Given the description of an element on the screen output the (x, y) to click on. 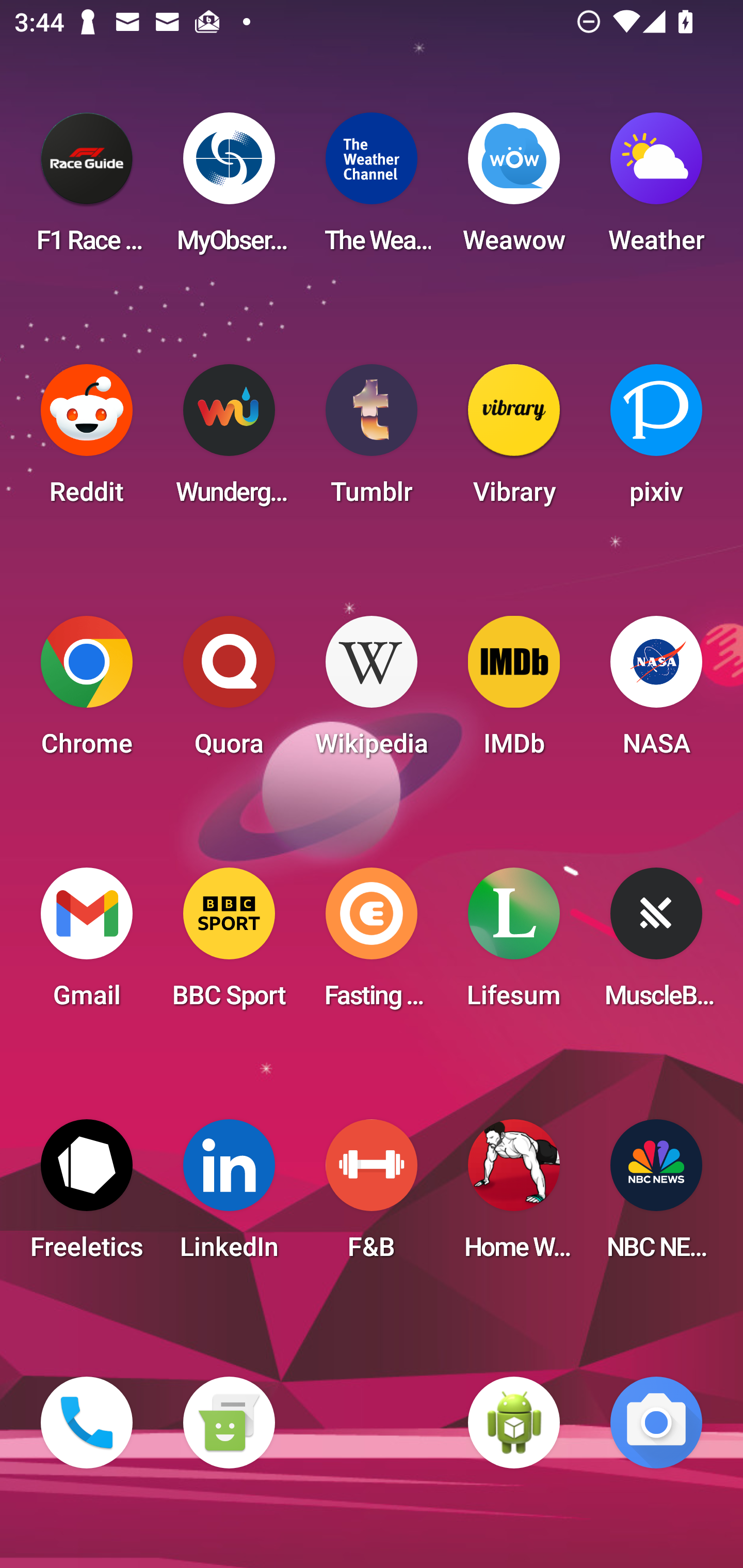
F1 Race Guide (86, 188)
MyObservatory (228, 188)
The Weather Channel (371, 188)
Weawow (513, 188)
Weather (656, 188)
Reddit (86, 440)
Wunderground (228, 440)
Tumblr (371, 440)
Vibrary (513, 440)
pixiv (656, 440)
Chrome (86, 692)
Quora (228, 692)
Wikipedia (371, 692)
IMDb (513, 692)
NASA (656, 692)
Gmail (86, 943)
BBC Sport (228, 943)
Fasting Coach (371, 943)
Lifesum (513, 943)
MuscleBooster (656, 943)
Freeletics (86, 1195)
LinkedIn (228, 1195)
F&B (371, 1195)
Home Workout (513, 1195)
NBC NEWS (656, 1195)
Phone (86, 1422)
Messaging (228, 1422)
WebView Browser Tester (513, 1422)
Camera (656, 1422)
